Given the description of an element on the screen output the (x, y) to click on. 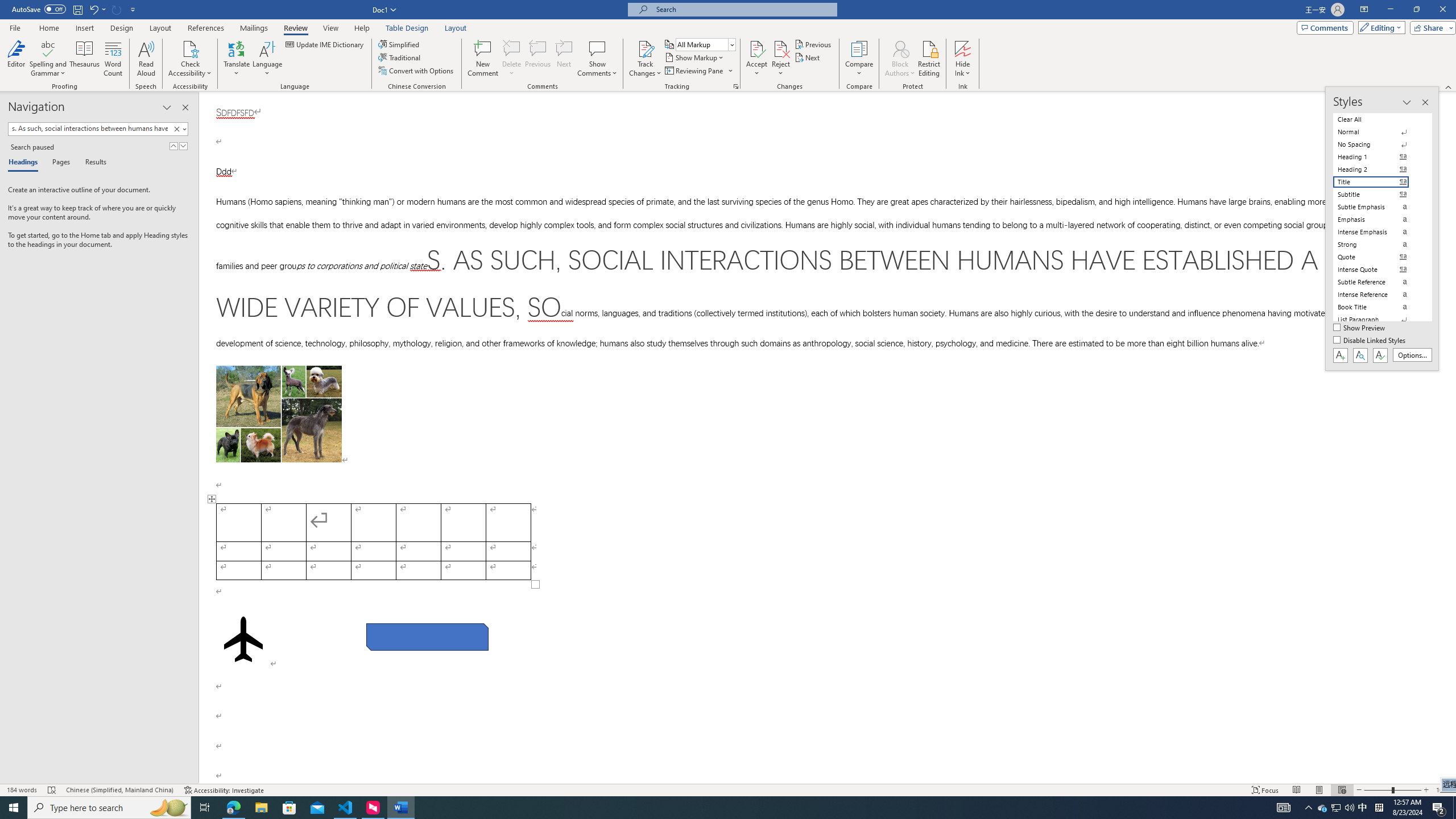
Track Changes (644, 58)
Show Preview (1360, 328)
Language (267, 58)
Intense Emphasis (1377, 232)
Undo Style (96, 9)
Update IME Dictionary... (324, 44)
Book Title (1377, 306)
